Given the description of an element on the screen output the (x, y) to click on. 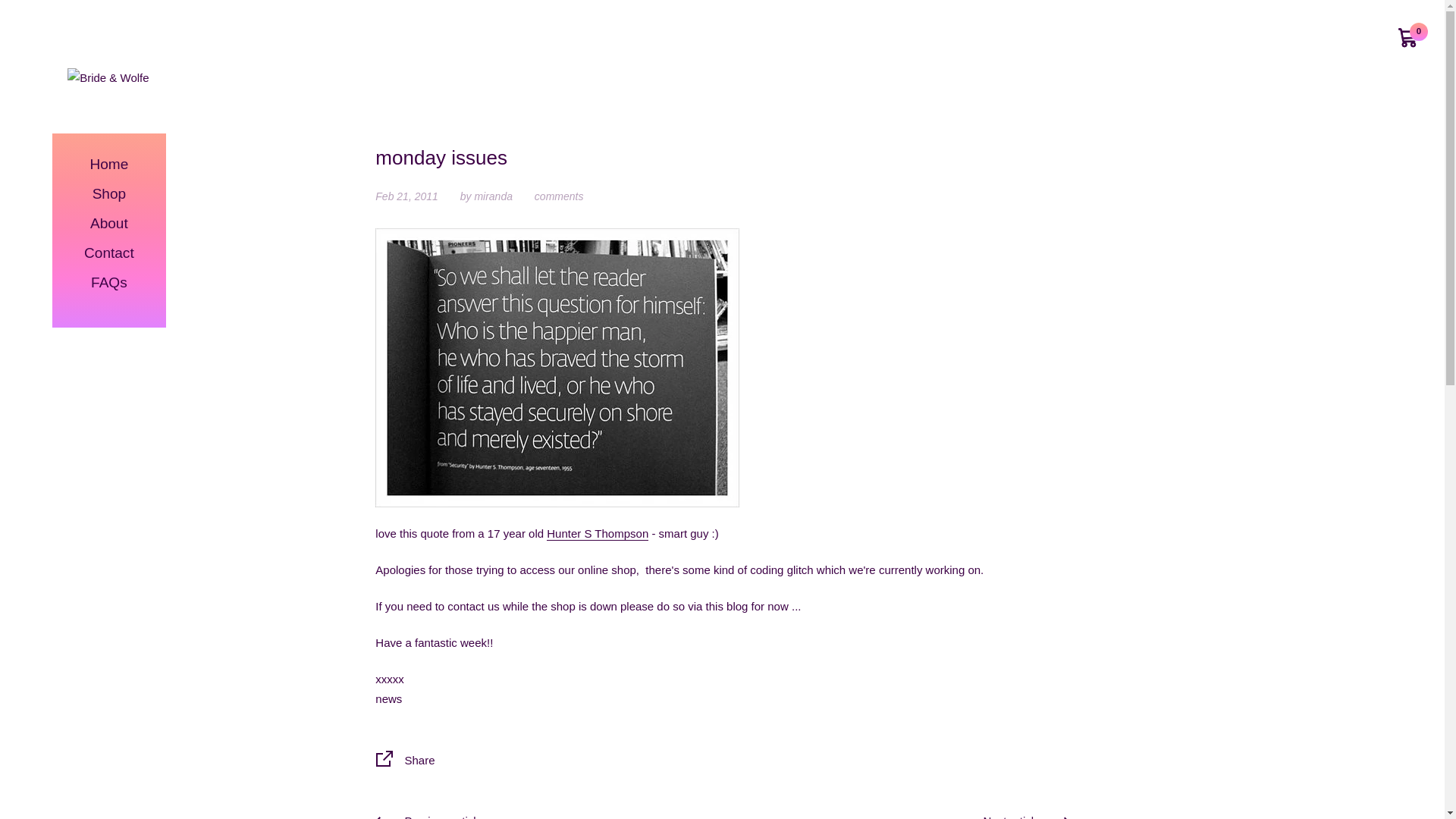
Hunter S Thompson (597, 533)
About (108, 224)
FAQs (108, 283)
Share (721, 761)
Shopping Cart (1408, 35)
Next article (1025, 815)
Home (108, 164)
hunter s thompson (557, 367)
Previous article (428, 815)
